Given the description of an element on the screen output the (x, y) to click on. 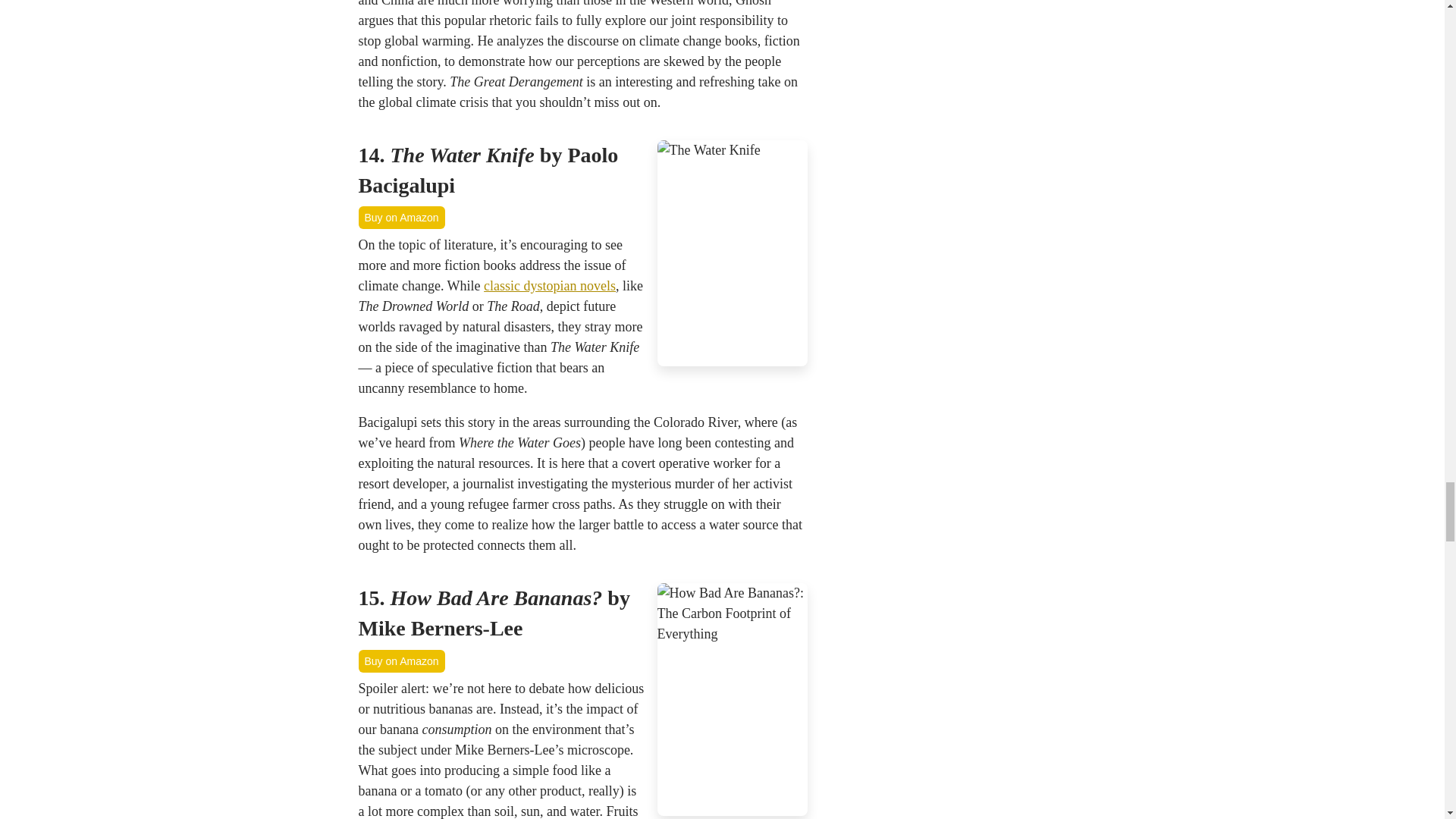
classic dystopian novels (549, 285)
Buy on Amazon (401, 661)
Buy on Amazon (401, 217)
